Given the description of an element on the screen output the (x, y) to click on. 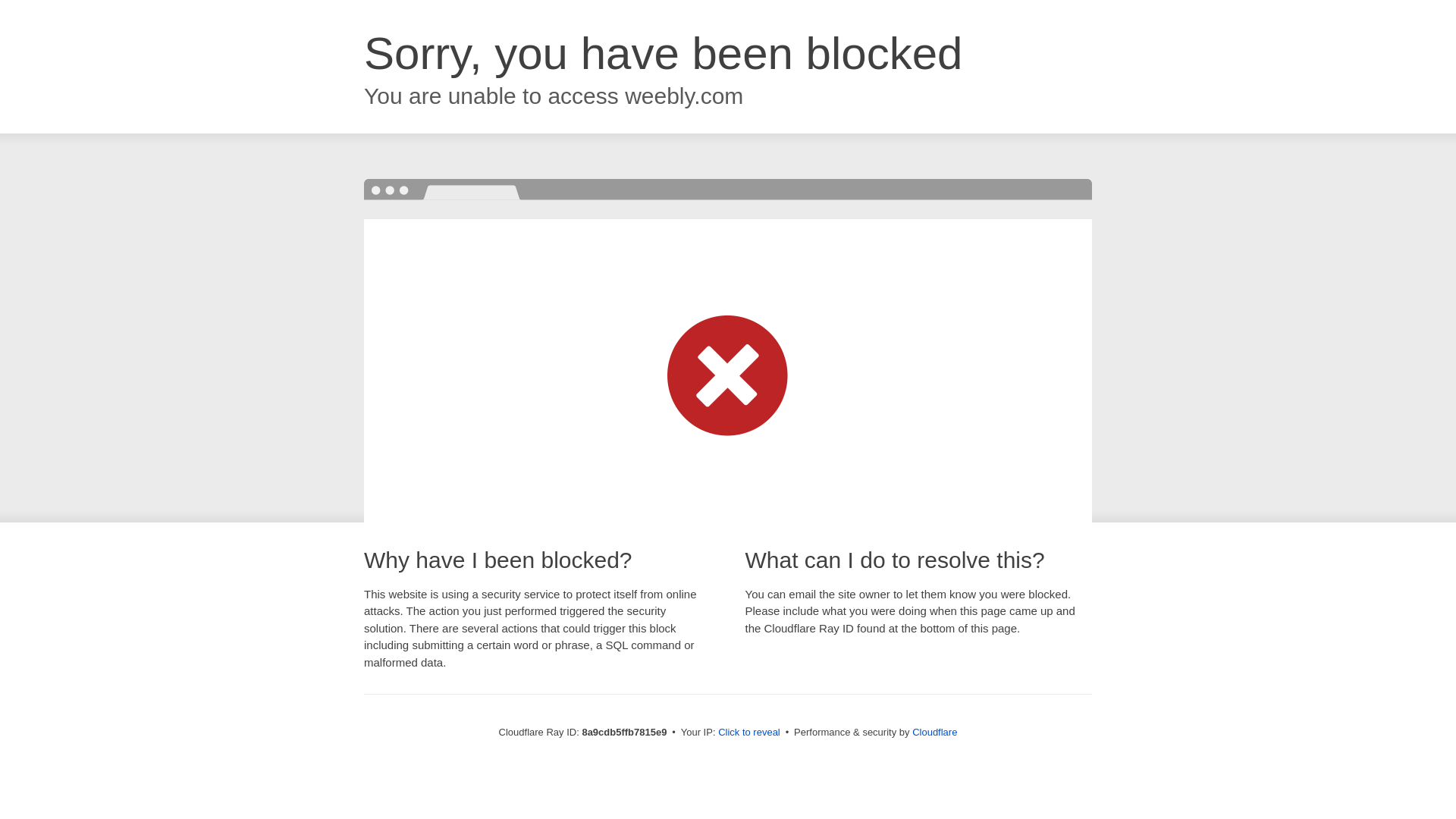
Click to reveal (748, 732)
Cloudflare (934, 731)
